Given the description of an element on the screen output the (x, y) to click on. 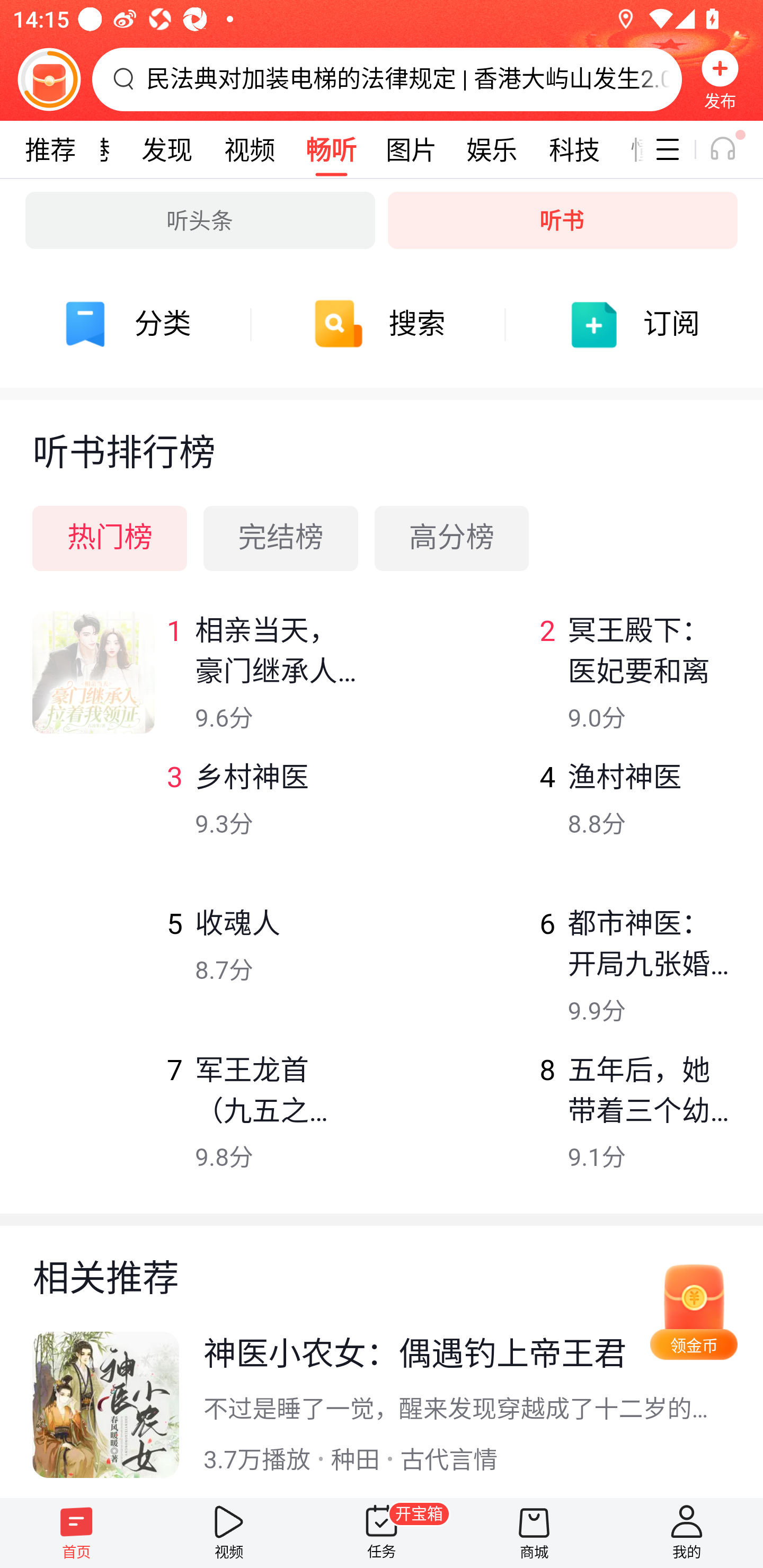
阅读赚金币 (48, 79)
发布 发布，按钮 (720, 78)
推荐 (49, 149)
发现 (166, 149)
视频 (249, 149)
畅听 (331, 149)
图片 (411, 149)
娱乐 (491, 149)
科技 (574, 149)
听一听开关 (732, 149)
听头条 (200, 220)
听书 (562, 220)
ec8ff11ac83e41d92da951de2b550623~tplv-noop 分类 (127, 324)
31232cedd33974649eb46fcb01598aba~tplv-noop 搜索 (381, 324)
4f7d5fecbd4d483872d847870da721d1~tplv-noop 订阅 (635, 324)
听书排行榜 (381, 437)
热门榜 (109, 538)
完结榜 (280, 538)
高分榜 (451, 538)
1 相亲当天，豪门继承人拉着我领证 9.6 分 (195, 684)
2 冥王殿下：医妃要和离 9.0 分 (566, 684)
3 乡村神医 9.3 分 (195, 830)
4 渔村神医 8.8 分 (566, 830)
5 收魂人 8.7 分 (195, 977)
6 都市神医：开局九张婚书 9.9 分 (566, 977)
7 军王龙首（九五之尊） 9.8 分 (195, 1123)
8 五年后，她带着三个幼崽虐翻财阀家族 9.1 分 (566, 1123)
首页 (76, 1532)
视频 (228, 1532)
任务 开宝箱 (381, 1532)
商城 (533, 1532)
我的 (686, 1532)
